Given the description of an element on the screen output the (x, y) to click on. 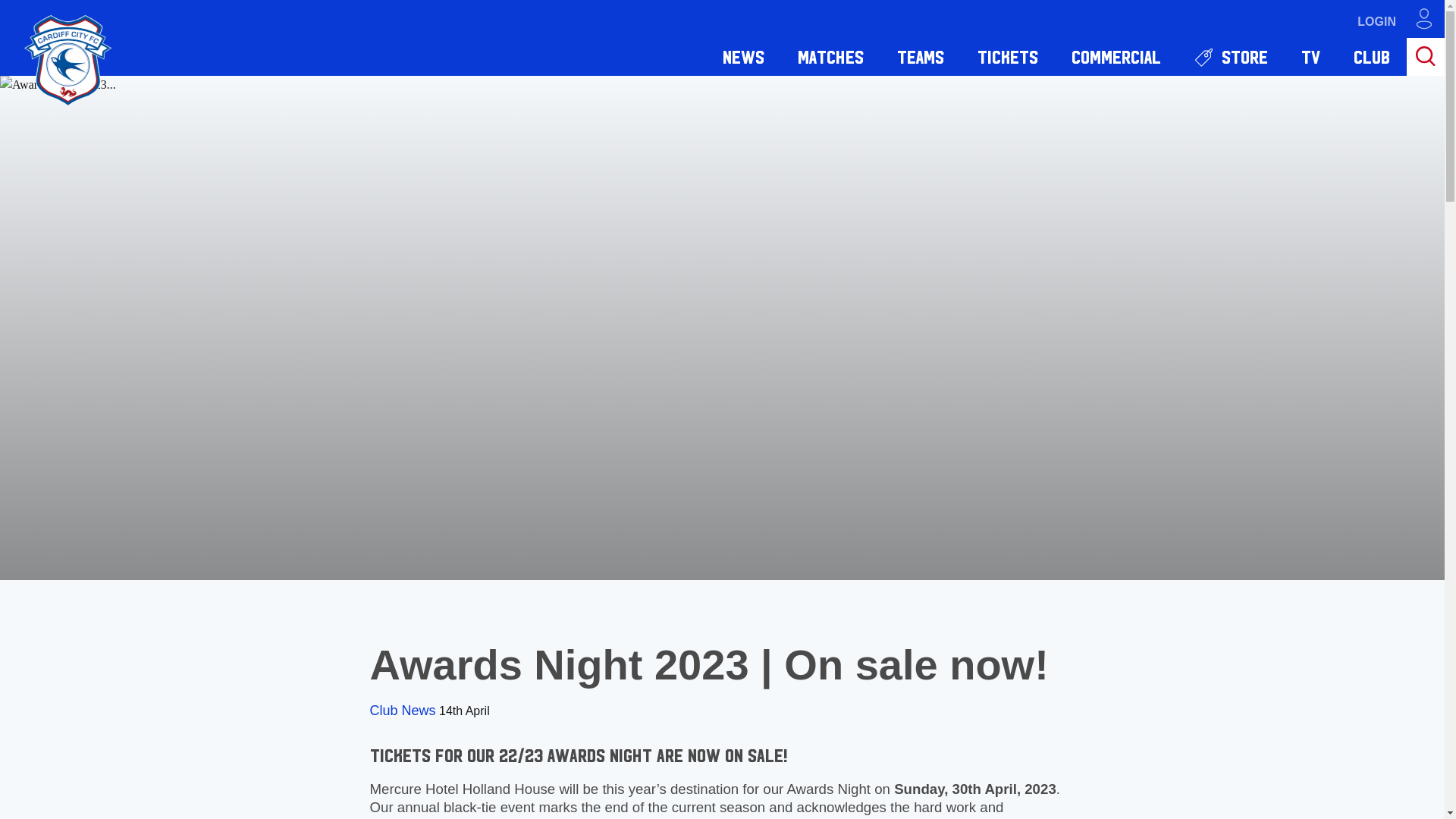
MATCHES (830, 56)
STORE (1230, 56)
TEAMS (920, 56)
TICKETS (1007, 56)
NEWS (743, 56)
COMMERCIAL (1115, 56)
